Given the description of an element on the screen output the (x, y) to click on. 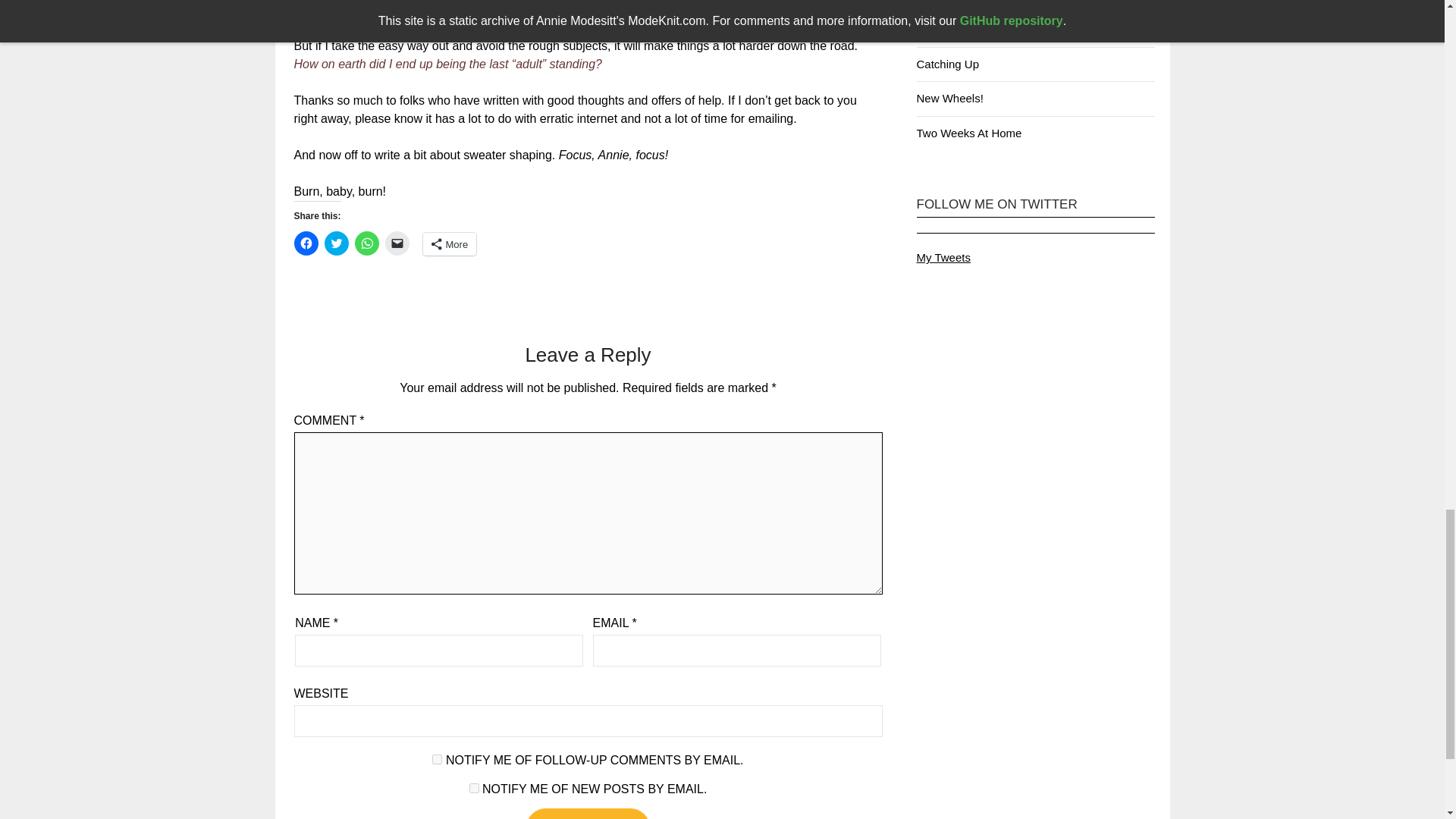
More (450, 243)
Click to share on Twitter (336, 242)
New Wheels! (948, 97)
Post Comment (587, 813)
Hope (929, 29)
Post Comment (587, 813)
Cancer Dancer (953, 0)
subscribe (437, 759)
Catching Up (946, 63)
Click to share on Facebook (306, 242)
